Given the description of an element on the screen output the (x, y) to click on. 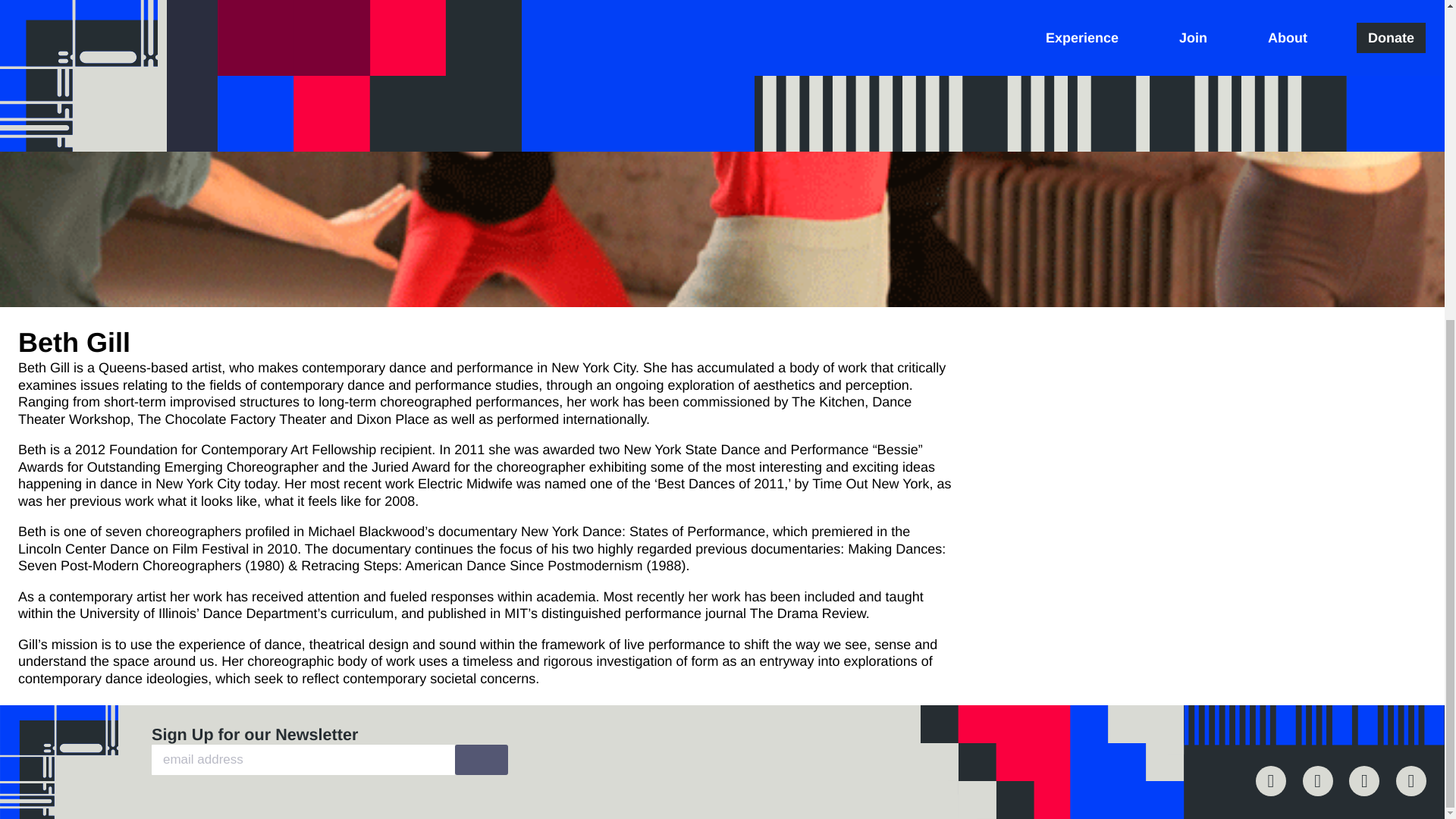
Electric Midwife (1052, 382)
Subscribe (481, 759)
CATACOMB (1044, 400)
